Given the description of an element on the screen output the (x, y) to click on. 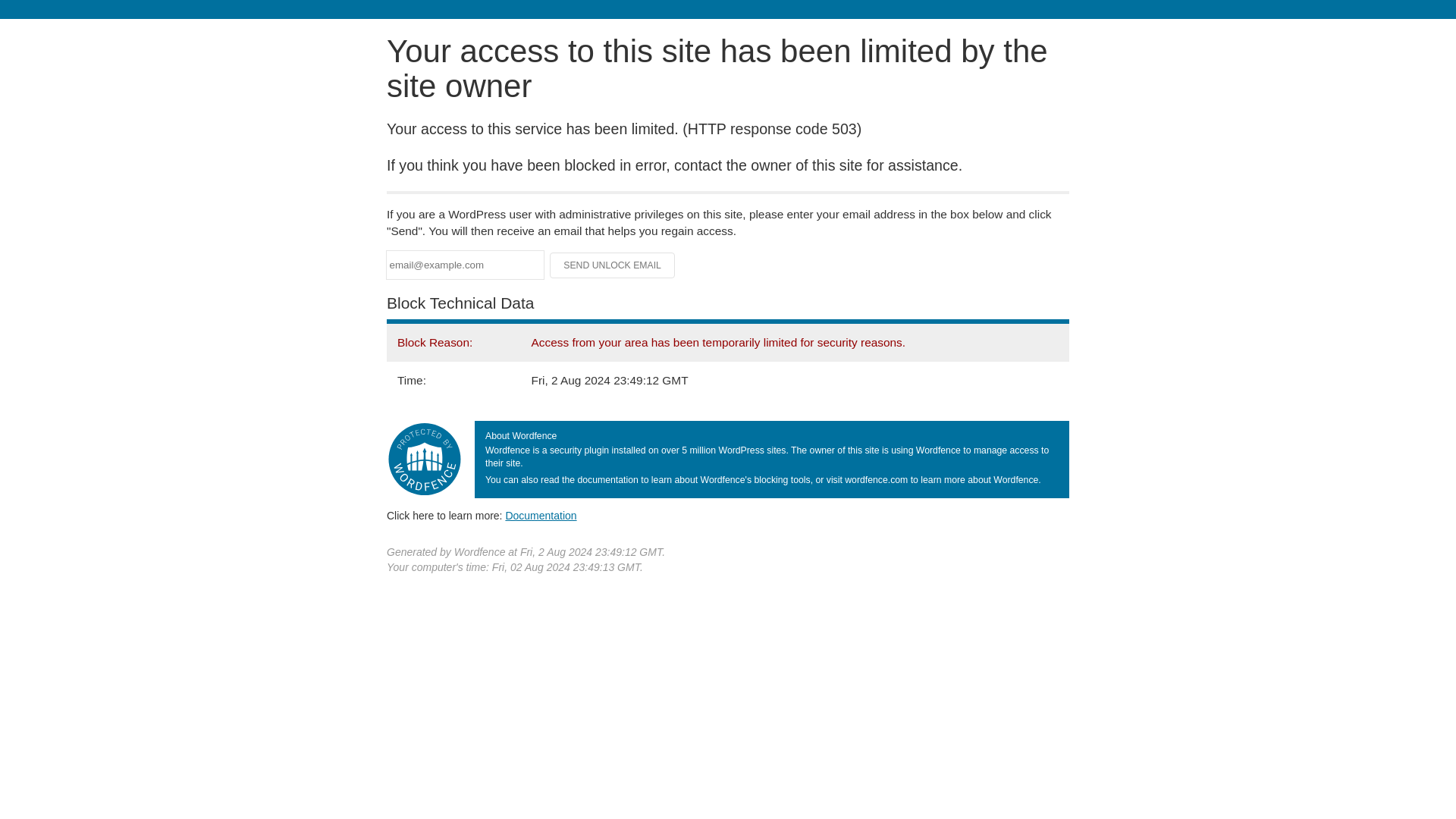
Send Unlock Email (612, 265)
Documentation (540, 515)
Send Unlock Email (612, 265)
